Given the description of an element on the screen output the (x, y) to click on. 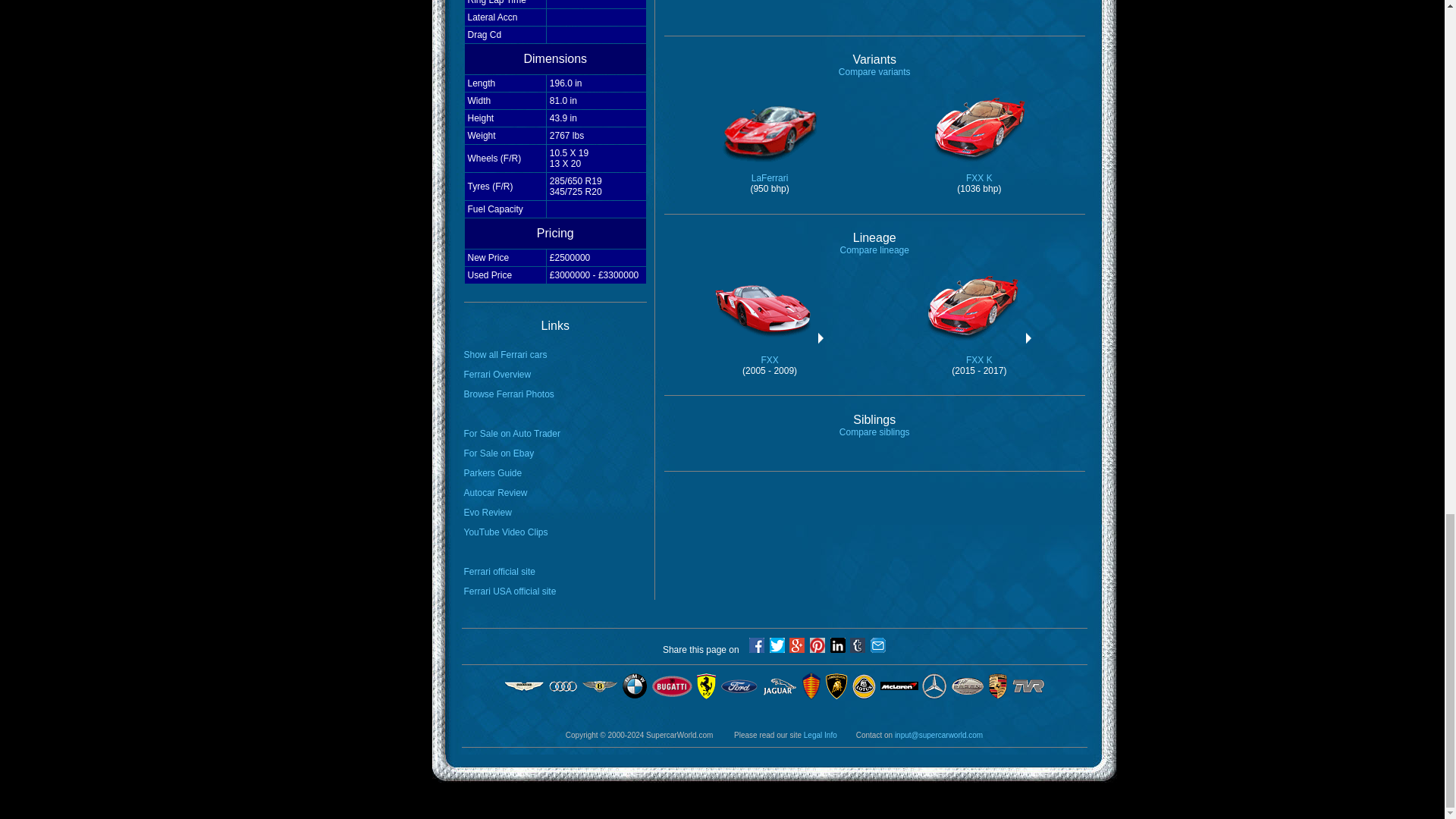
Evo Review (488, 511)
Ferrari USA official site (510, 591)
Compare lineage (979, 348)
For Sale on Auto Trader (874, 249)
LaFerrari (512, 433)
Show all Ferrari cars (769, 168)
Compare variants (505, 354)
Autocar Review (874, 71)
Compare siblings (495, 492)
Ferrari official site (875, 431)
Browse Ferrari Photos (499, 571)
FXX K (509, 394)
Ferrari Overview (769, 348)
